Given the description of an element on the screen output the (x, y) to click on. 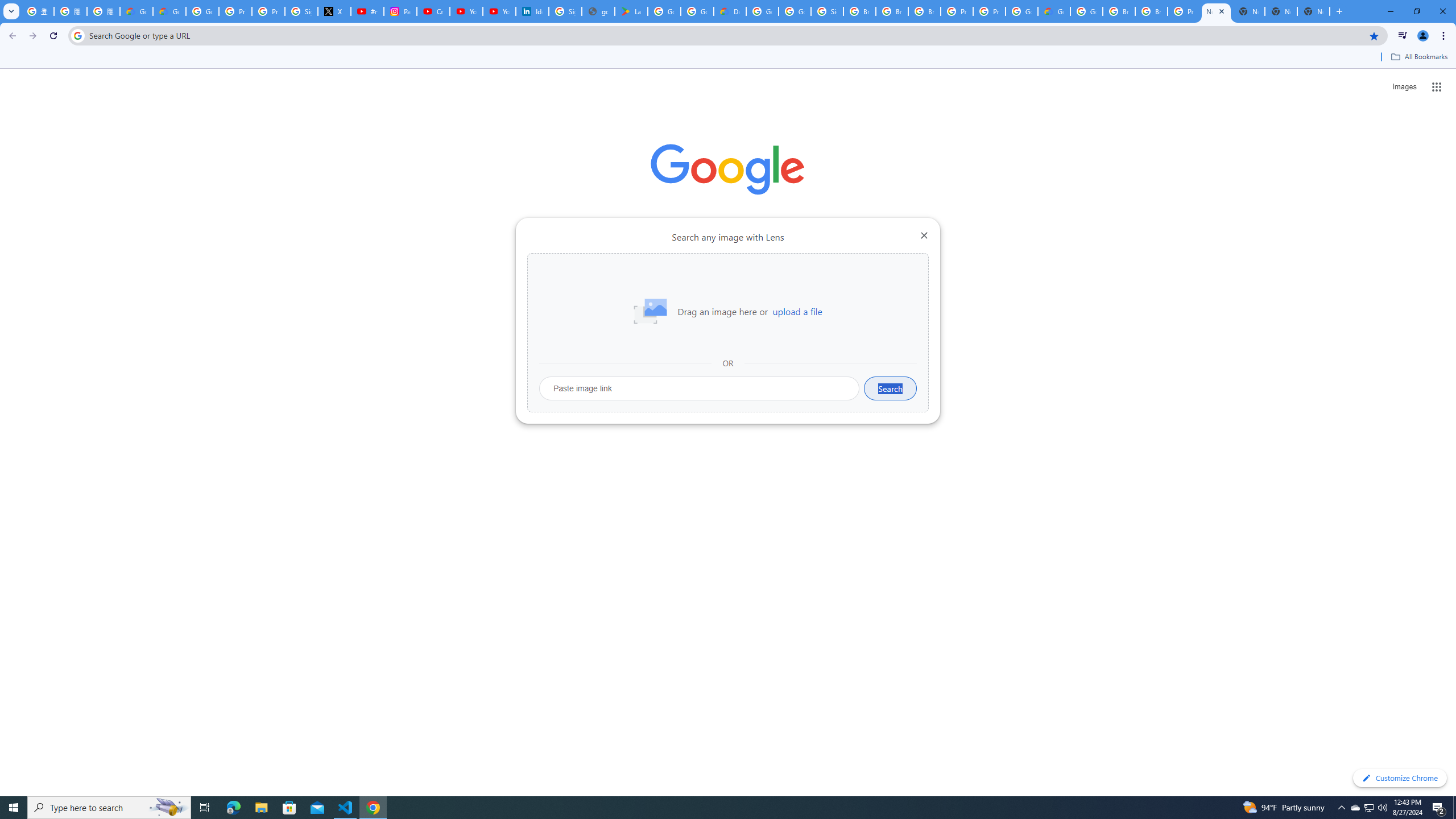
New Tab (1313, 11)
Google Cloud Estimate Summary (1053, 11)
Browse Chrome as a guest - Computer - Google Chrome Help (1118, 11)
Privacy Help Center - Policies Help (268, 11)
Browse Chrome as a guest - Computer - Google Chrome Help (859, 11)
